Given the description of an element on the screen output the (x, y) to click on. 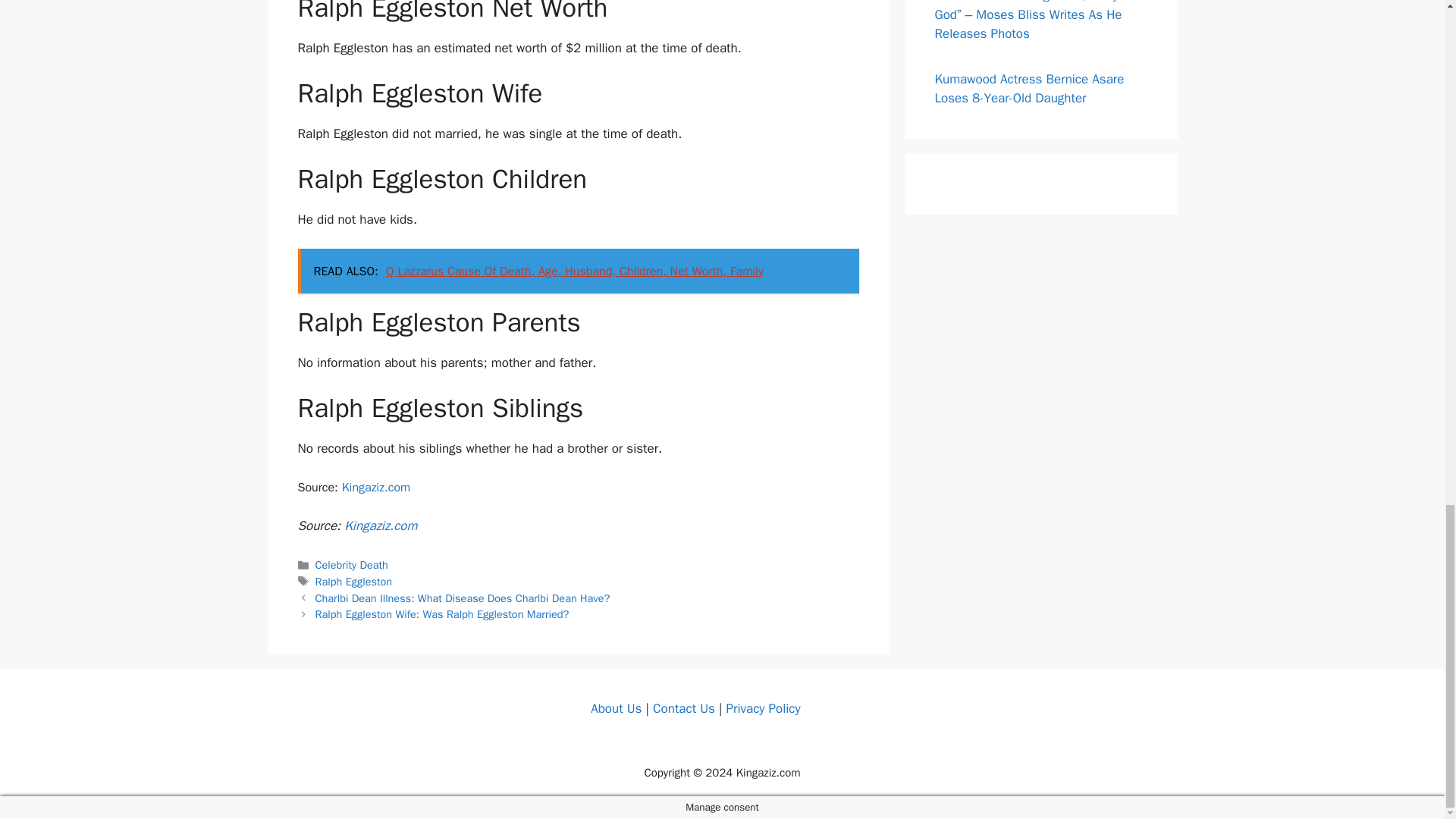
Contact Us (683, 708)
Kingaziz.com (379, 525)
Ralph Eggleston Wife: Was Ralph Eggleston Married? (442, 613)
Charlbi Dean Illness: What Disease Does Charlbi Dean Have? (462, 598)
About Us (616, 708)
Ralph Eggleston (354, 581)
Privacy Policy (762, 708)
Celebrity Death (351, 564)
Kumawood Actress Bernice Asare Loses 8-Year-Old Daughter (1029, 89)
Kingaziz.com (376, 487)
